Given the description of an element on the screen output the (x, y) to click on. 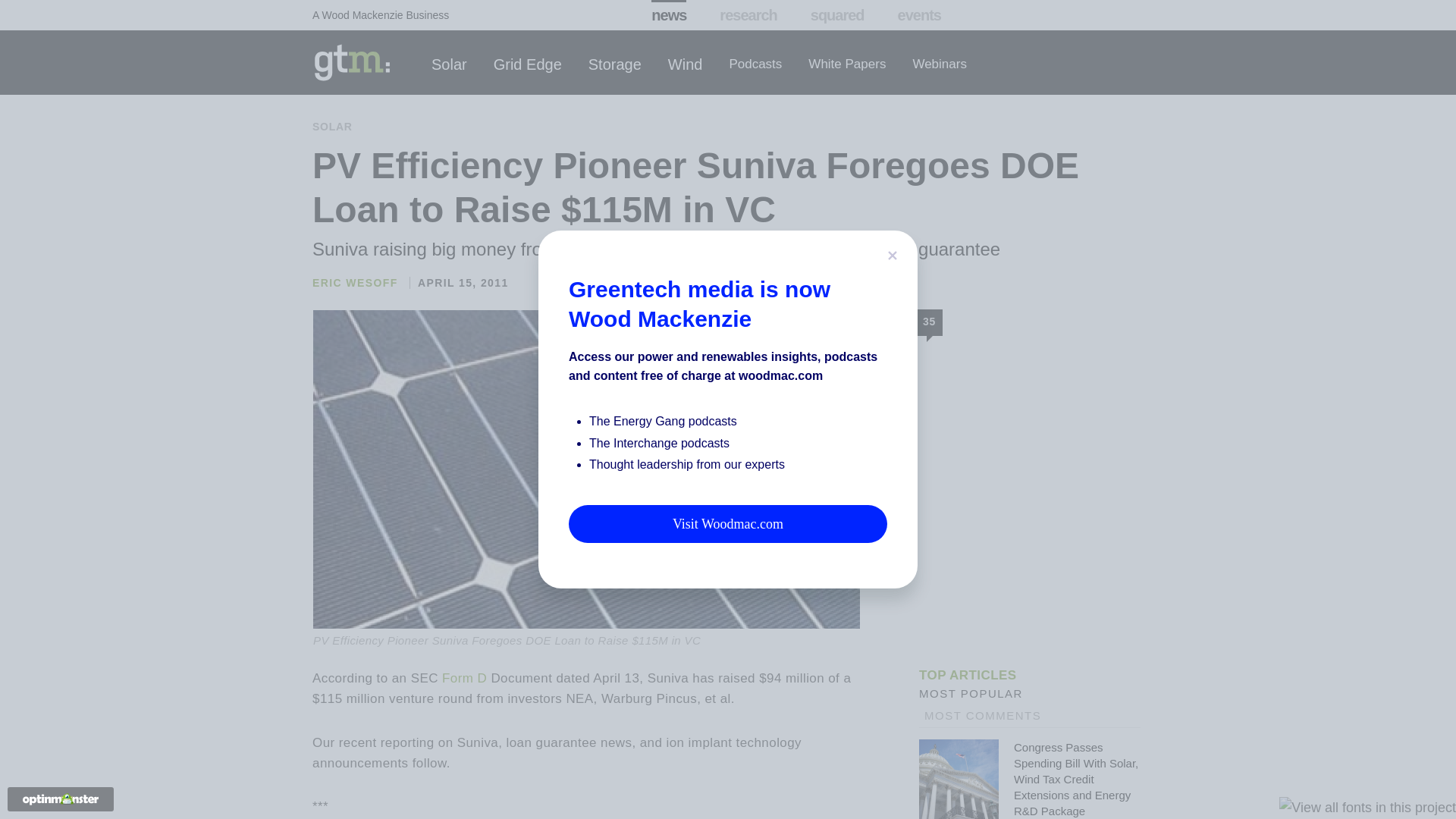
Powered by OptinMonster (61, 799)
squared (837, 15)
Wind (685, 64)
Storage (615, 64)
Solar (448, 64)
Podcasts (755, 64)
Close (892, 254)
White Papers (846, 64)
Grid Edge (527, 64)
Visit Woodmac.com (727, 523)
news (667, 15)
research (747, 15)
events (919, 15)
